Given the description of an element on the screen output the (x, y) to click on. 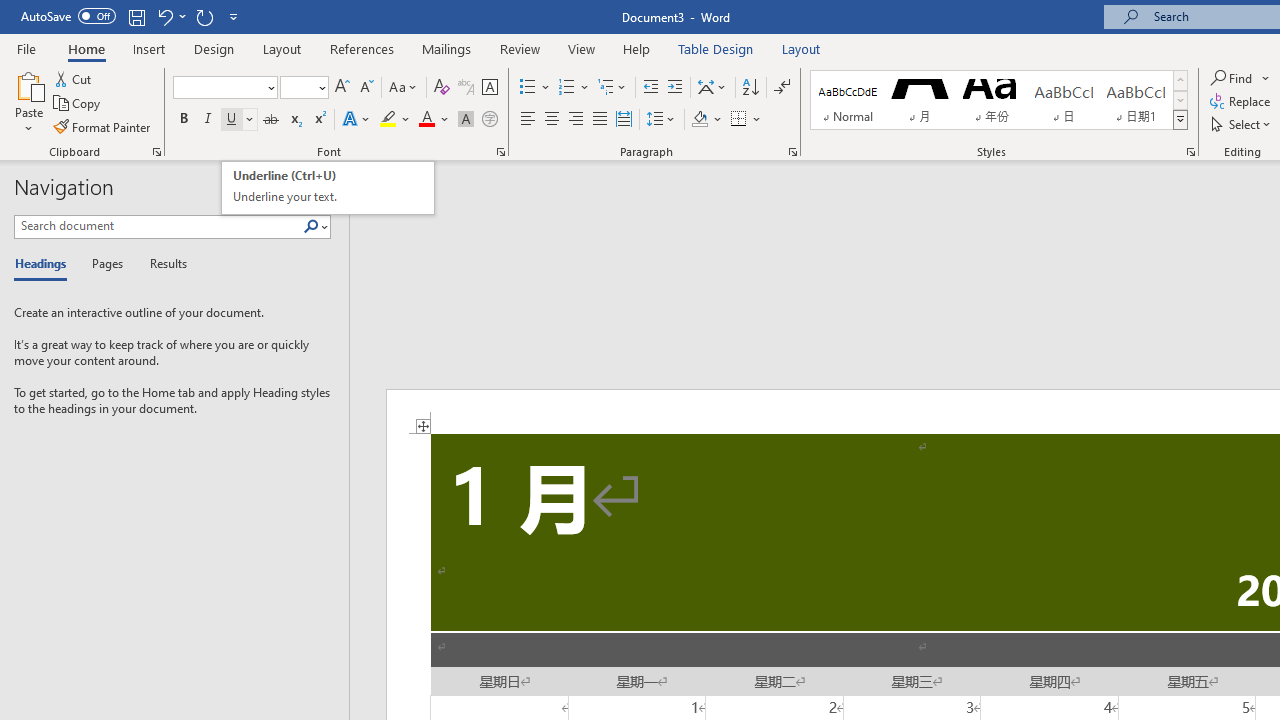
Shading RGB(0, 0, 0) (699, 119)
Increase Indent (675, 87)
Grow Font (342, 87)
Cut (73, 78)
Character Shading (465, 119)
Superscript (319, 119)
